Given the description of an element on the screen output the (x, y) to click on. 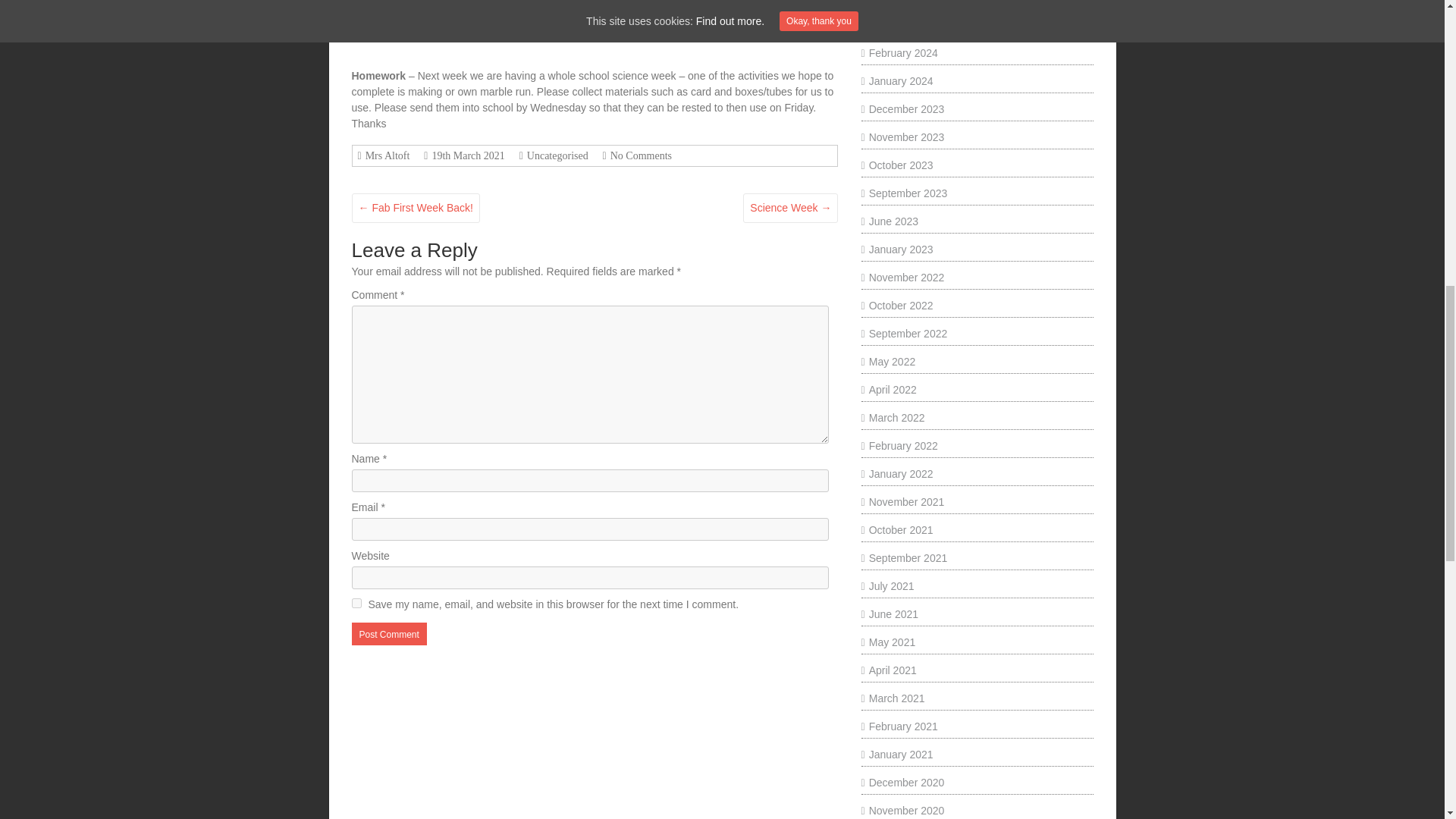
March 2024 (892, 24)
March 2022 (892, 417)
19th March 2021 (465, 155)
May 2022 (888, 361)
November 2023 (902, 137)
No Comments (639, 155)
October 2022 (897, 305)
Uncategorised (555, 155)
Post Comment (389, 633)
June 2023 (889, 221)
December 2023 (902, 109)
January 2024 (897, 80)
November 2022 (902, 277)
October 2023 (897, 164)
yes (356, 603)
